Given the description of an element on the screen output the (x, y) to click on. 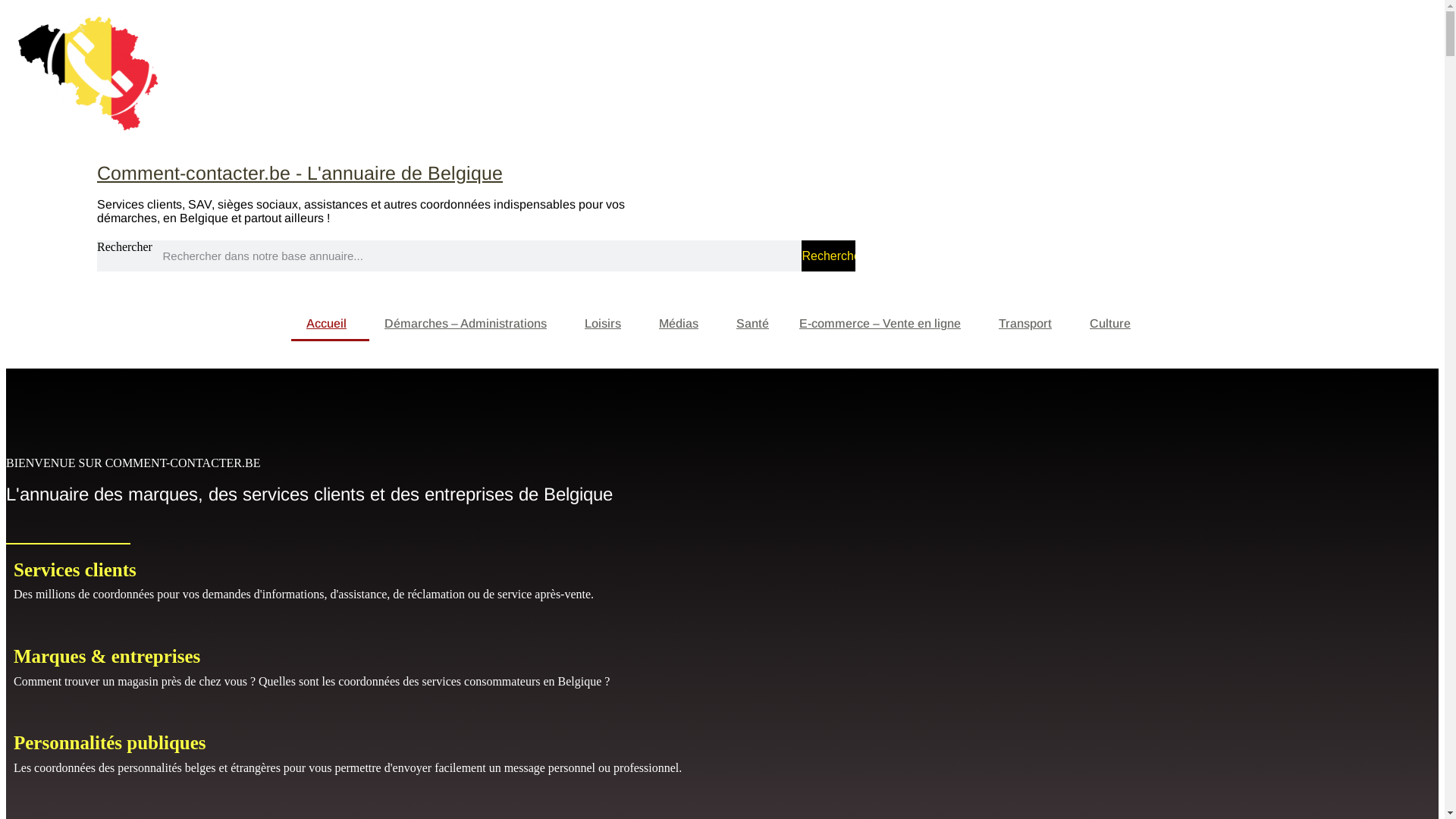
Aller au contenu Element type: text (5, 5)
Comment-contacter.be - L'annuaire de Belgique Element type: text (299, 172)
Culture Element type: text (1113, 323)
Rechercher Element type: text (828, 255)
Accueil Element type: text (330, 323)
Transport Element type: text (1028, 323)
Loisirs Element type: text (606, 323)
